Given the description of an element on the screen output the (x, y) to click on. 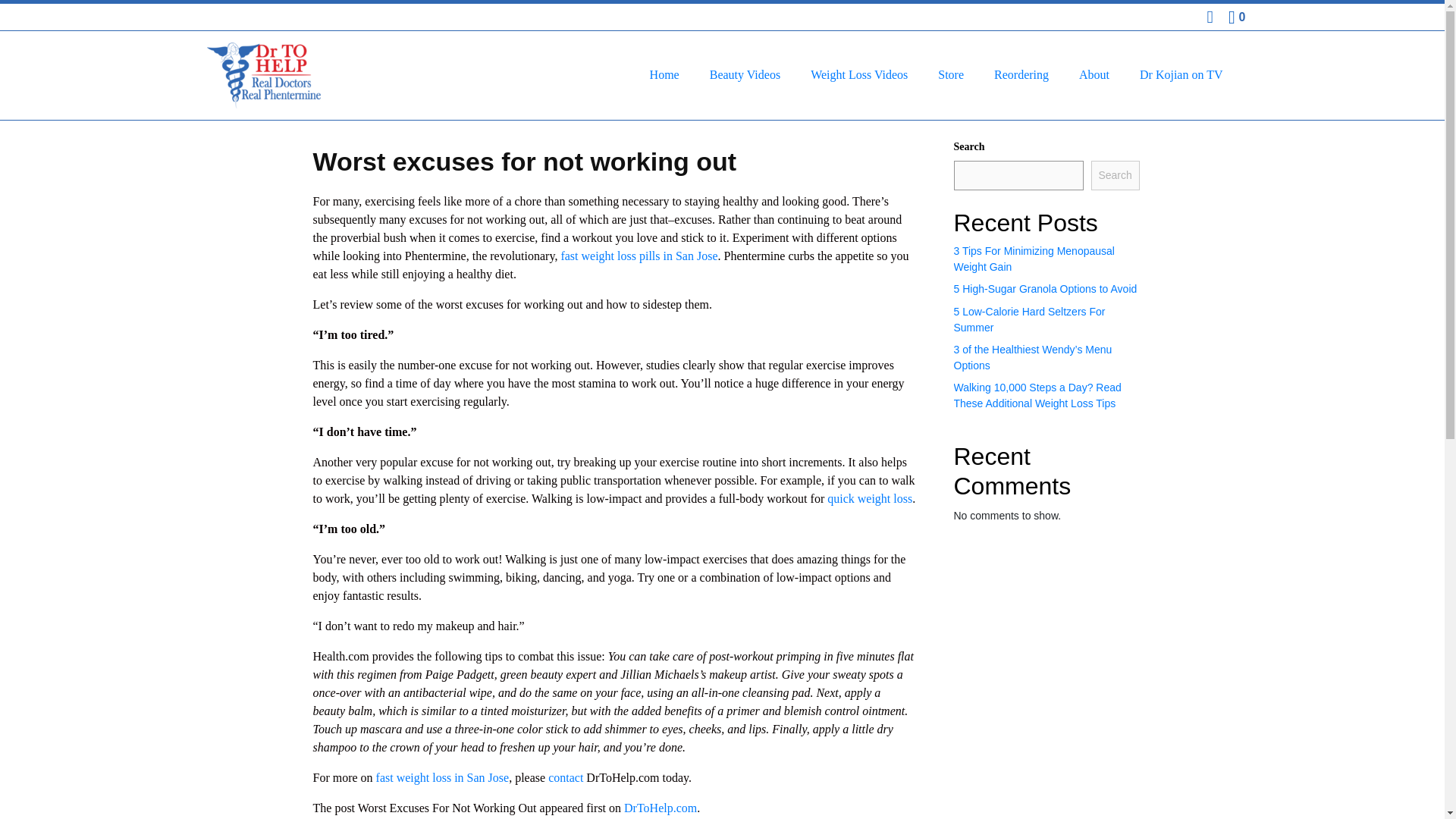
DrToHelp.com (660, 807)
5 Low-Calorie Hard Seltzers For Summer (1029, 319)
Reordering (1021, 74)
Store (950, 74)
3 Tips For Minimizing Menopausal Weight Gain (1034, 258)
Home (664, 74)
Beauty Videos (744, 74)
quick weight loss (869, 497)
0 (1236, 17)
